Given the description of an element on the screen output the (x, y) to click on. 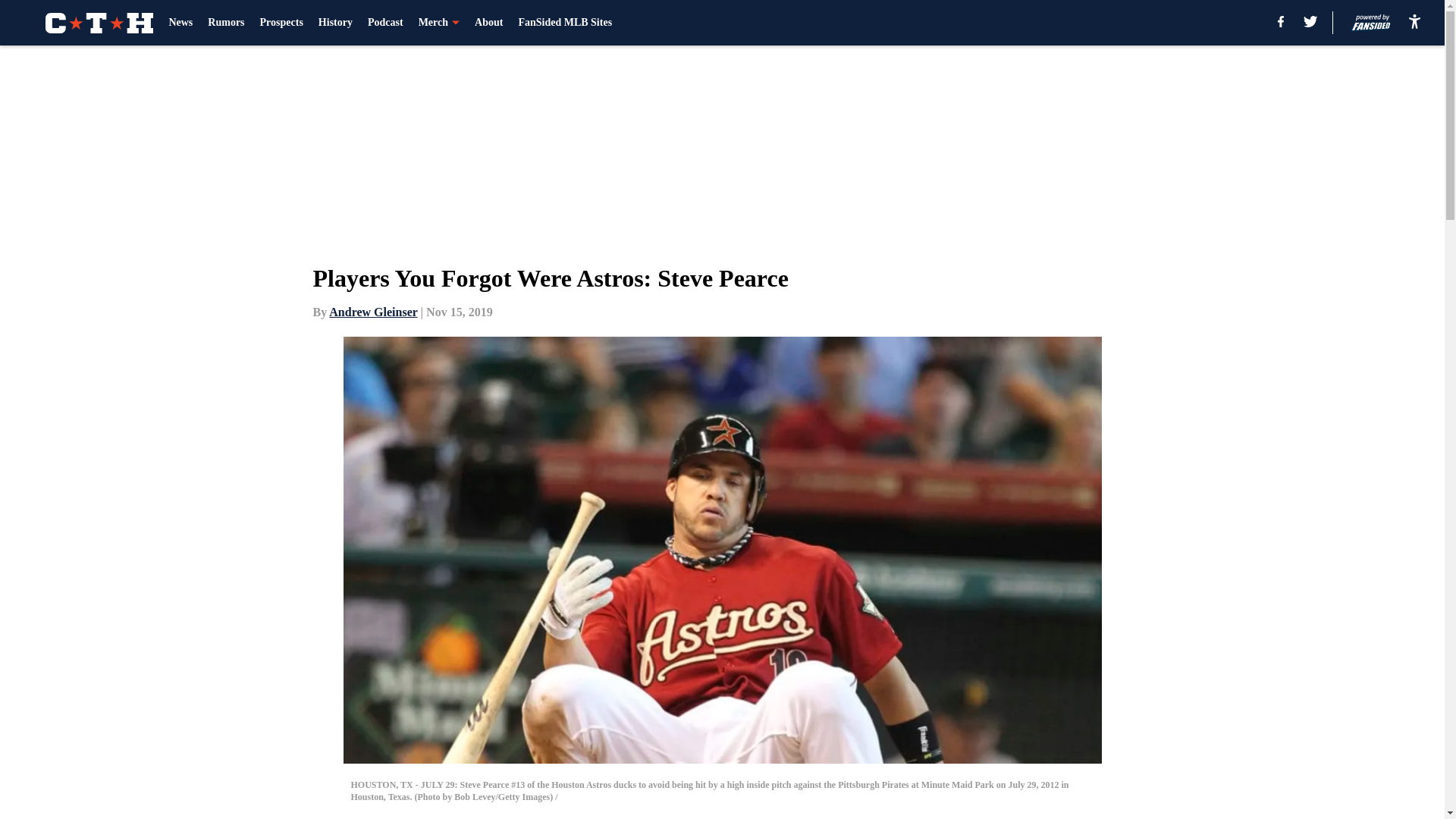
About (488, 22)
Andrew Gleinser (372, 311)
FanSided MLB Sites (564, 22)
Podcast (385, 22)
Rumors (226, 22)
History (335, 22)
Prospects (281, 22)
News (180, 22)
